Given the description of an element on the screen output the (x, y) to click on. 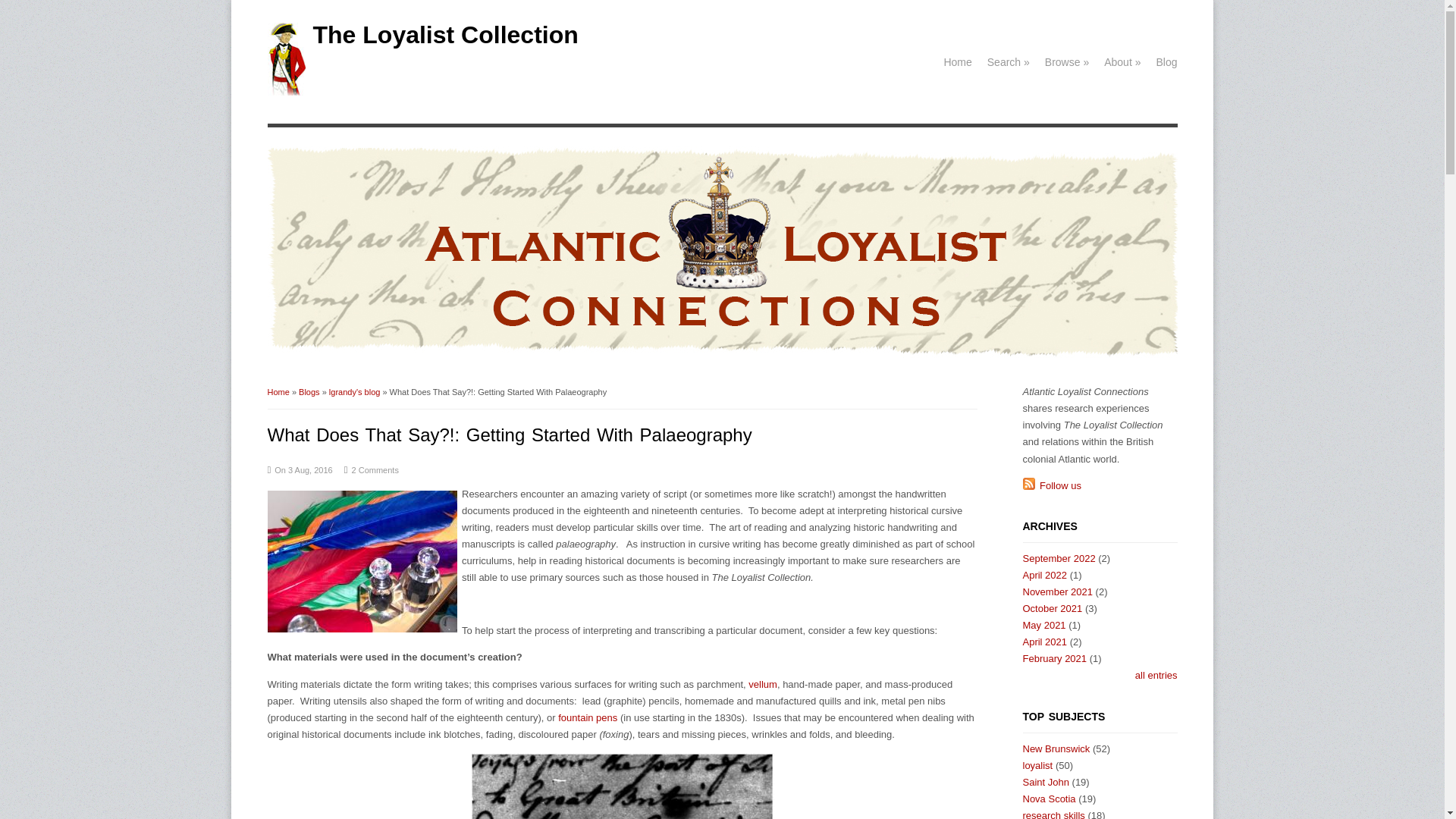
Follow us (1051, 485)
April 2021 (1044, 641)
November 2021 (1057, 591)
May 2021 (1043, 624)
The Loyalist Collection (445, 34)
vellum (762, 684)
Blogs (309, 391)
Blog (1166, 61)
April 2022 (1044, 574)
lgrandy's blog (354, 391)
Home (285, 91)
fountain pens (587, 717)
Home (277, 391)
September 2022 (1058, 558)
October 2021 (1051, 608)
